Given the description of an element on the screen output the (x, y) to click on. 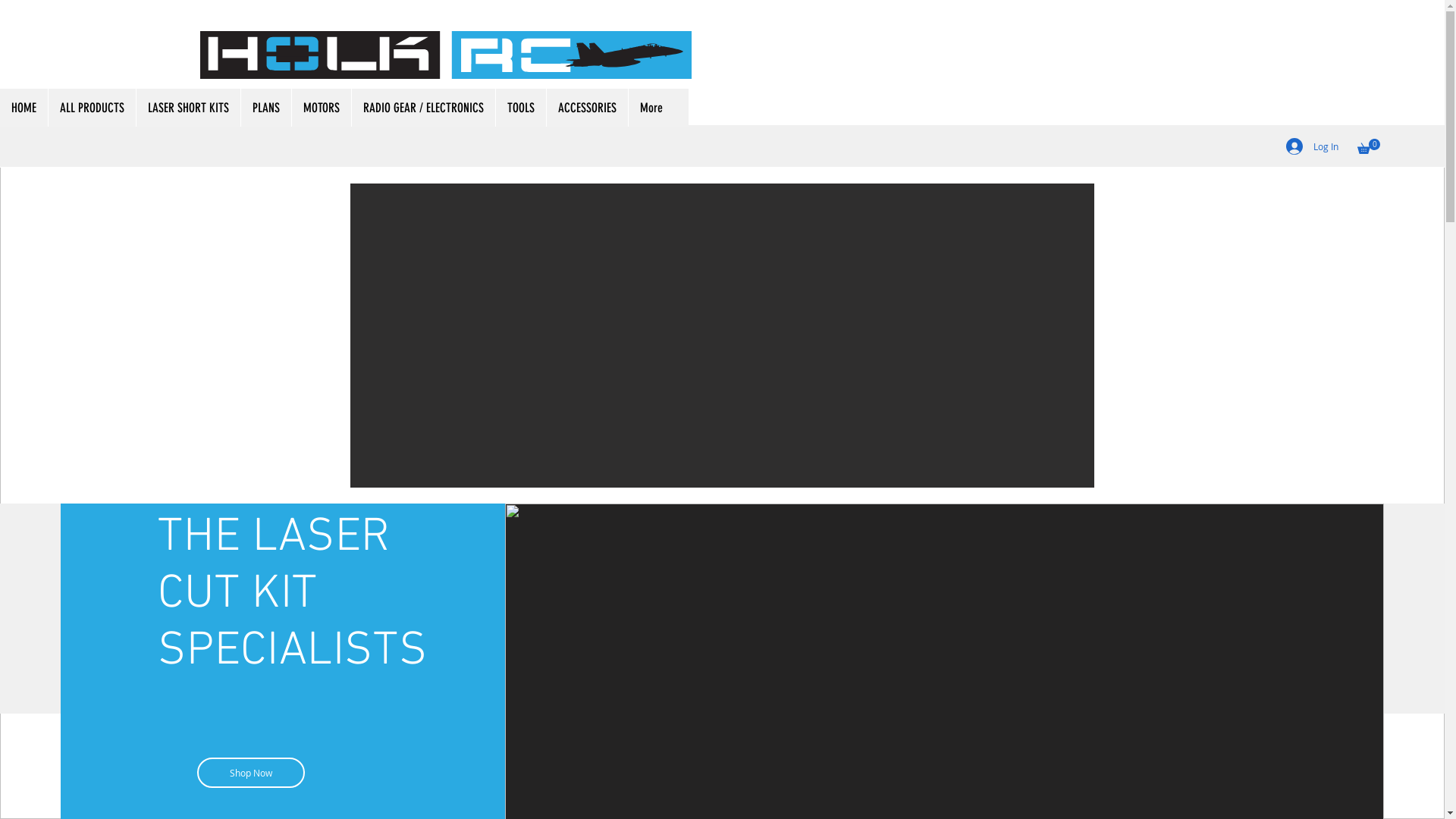
LASER SHORT KITS Element type: text (187, 107)
PLANS Element type: text (265, 107)
Shop Now Element type: text (250, 772)
TOOLS Element type: text (520, 107)
MOTORS Element type: text (321, 107)
Log In Element type: text (1312, 146)
HOME Element type: text (23, 107)
RADIO GEAR / ELECTRONICS Element type: text (423, 107)
0 Element type: text (1368, 145)
ACCESSORIES Element type: text (586, 107)
ALL PRODUCTS Element type: text (91, 107)
